Given the description of an element on the screen output the (x, y) to click on. 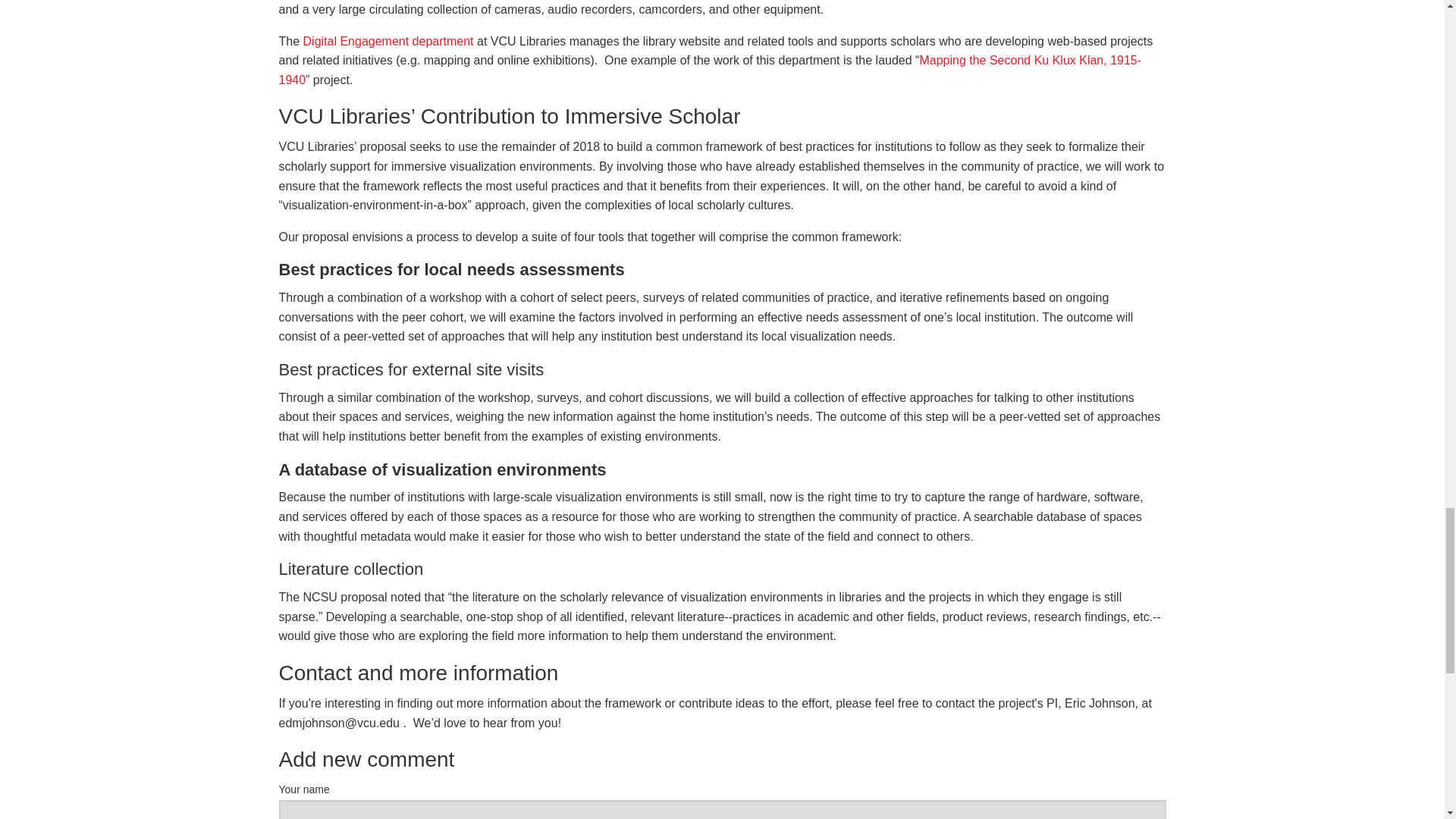
Mapping the Second Ku Klux Klan, 1915-1940 (710, 70)
Digital Engagement department (388, 41)
